Given the description of an element on the screen output the (x, y) to click on. 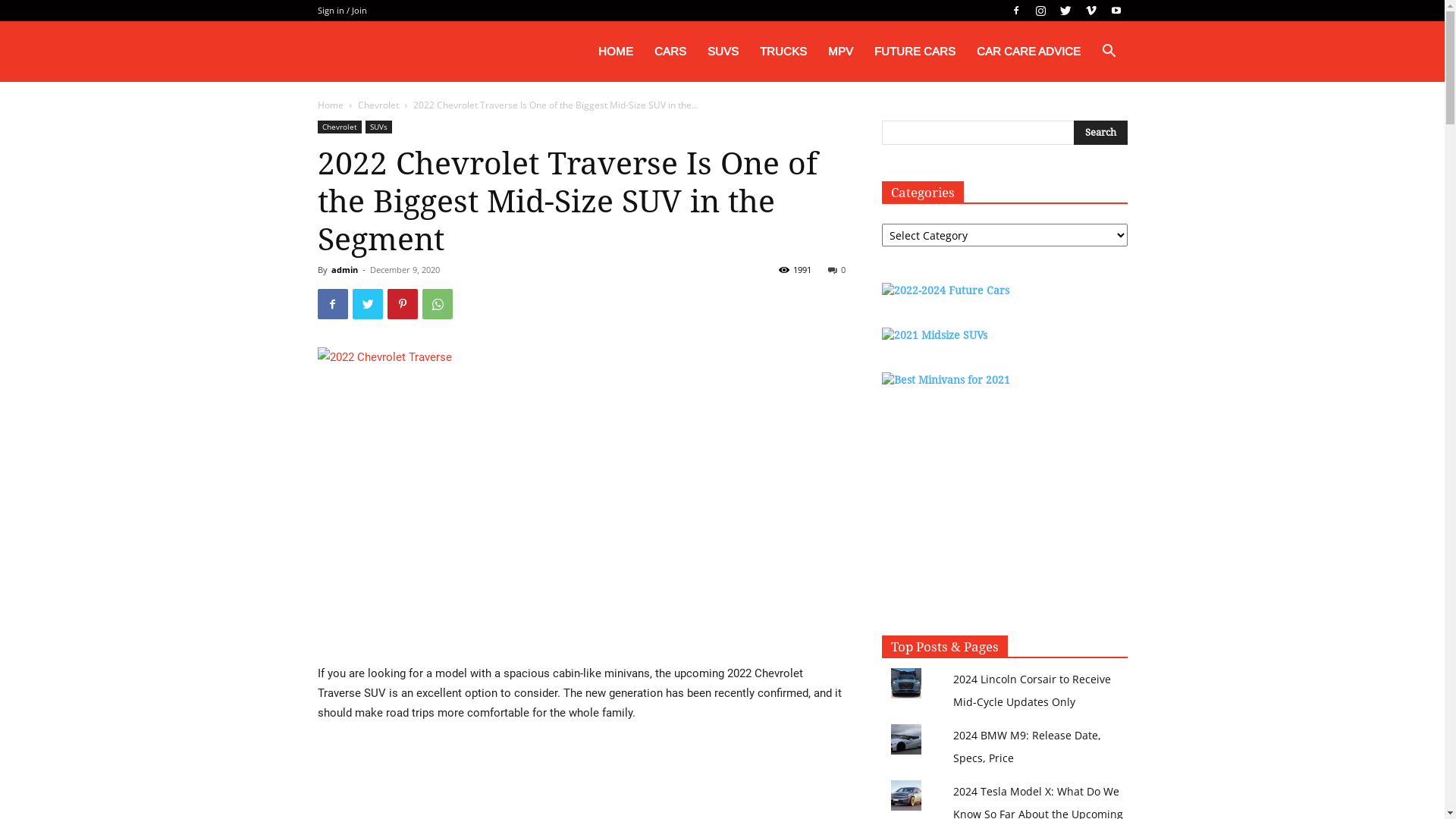
Home Element type: text (329, 104)
Facebook Element type: hover (1015, 10)
Youtube Element type: hover (1115, 10)
2024 Lincoln Corsair to Receive Mid-Cycle Updates Only Element type: text (1031, 690)
Advertisement Element type: hover (1003, 511)
CAR CARE ADVICE Element type: text (1028, 51)
FUTURE CARS Element type: text (913, 51)
Twitter Element type: hover (1065, 10)
Chevrolet Element type: text (377, 104)
admin Element type: text (343, 269)
HOME Element type: text (614, 51)
2022 Chevrolet Traverse Element type: hover (580, 495)
Instagram Element type: hover (1040, 10)
Pinterest Element type: hover (401, 303)
TRUCKS Element type: text (783, 51)
2024 BMW M9: Release Date, Specs, Price Element type: text (1027, 746)
Chevrolet Element type: text (338, 126)
SUVS Element type: text (722, 51)
WhatsApp Element type: hover (436, 303)
CARS Element type: text (669, 51)
Twitter Element type: hover (366, 303)
0 Element type: text (836, 269)
Facebook Element type: hover (331, 303)
Sign in / Join Element type: text (341, 9)
Search Element type: text (1085, 124)
Vimeo Element type: hover (1090, 10)
MPV Element type: text (840, 51)
SUVs Element type: text (378, 126)
Search Element type: text (1100, 132)
